Given the description of an element on the screen output the (x, y) to click on. 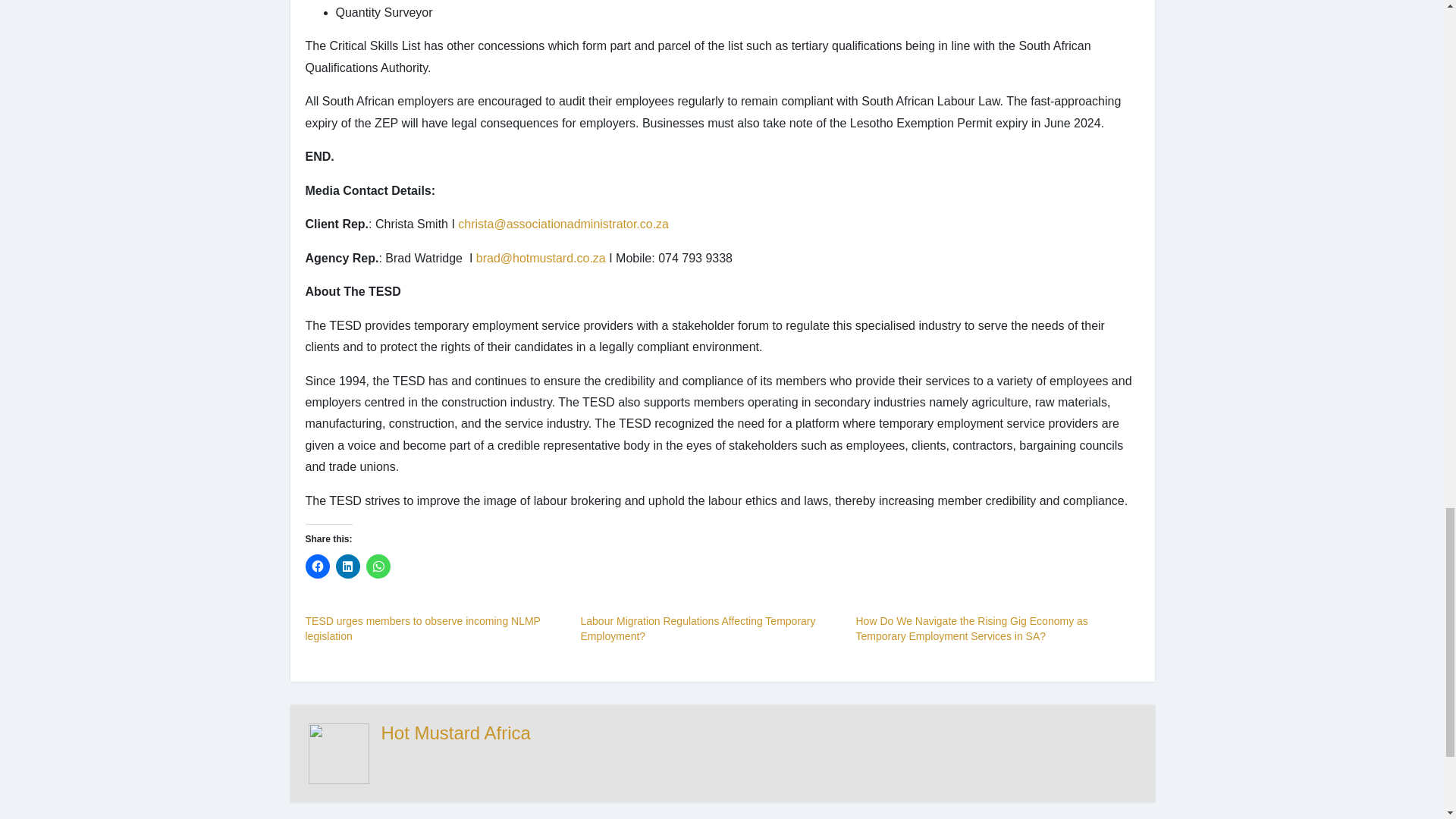
TESD urges members to observe incoming NLMP legislation (422, 628)
Click to share on Facebook (316, 566)
Labour Migration Regulations Affecting Temporary Employment? (697, 628)
Click to share on LinkedIn (346, 566)
Click to share on WhatsApp (377, 566)
TESD urges members to observe incoming NLMP legislation (422, 628)
Labour Migration Regulations Affecting Temporary Employment? (697, 628)
Hot Mustard Africa (454, 732)
